Given the description of an element on the screen output the (x, y) to click on. 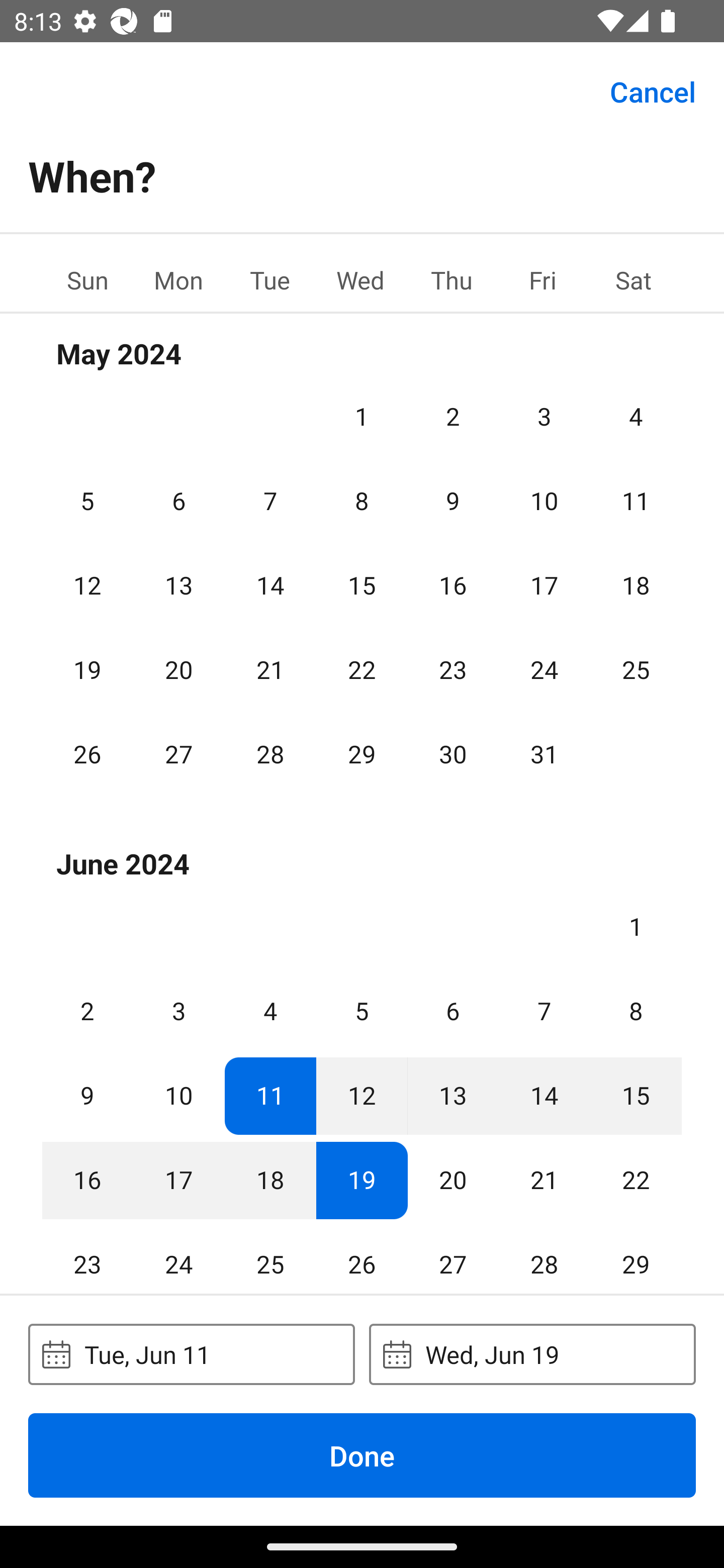
Cancel (652, 90)
Tue, Jun 11 (191, 1353)
Wed, Jun 19 (532, 1353)
Done (361, 1454)
